Given the description of an element on the screen output the (x, y) to click on. 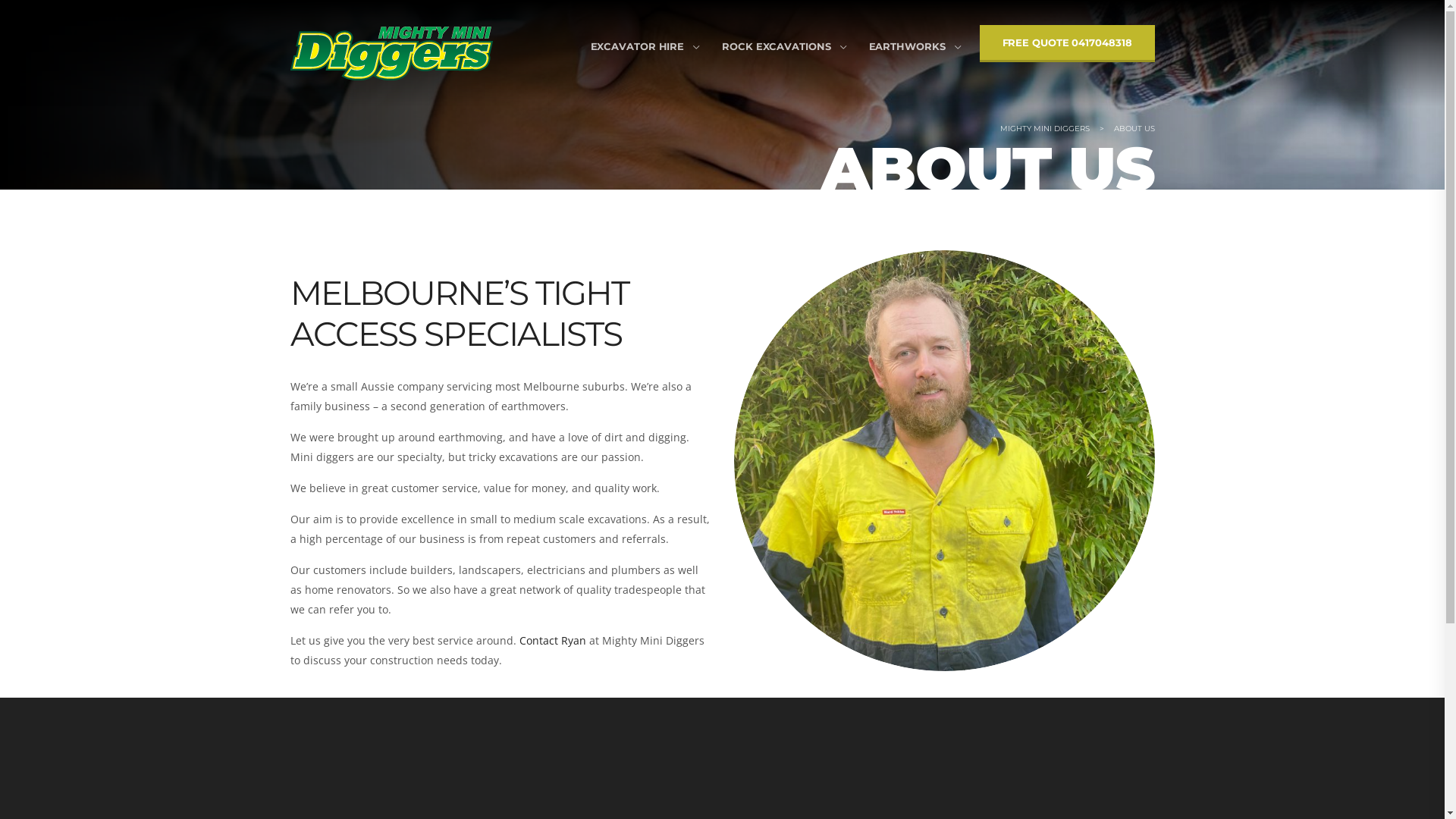
ROCK EXCAVATIONS Element type: text (775, 46)
Ryan Boekhorst Element type: hover (944, 460)
Contact Ryan Element type: text (551, 640)
EARTHWORKS Element type: text (907, 46)
MIGHTY MINI DIGGERS Element type: text (1043, 128)
EXCAVATOR HIRE Element type: text (637, 46)
